Given the description of an element on the screen output the (x, y) to click on. 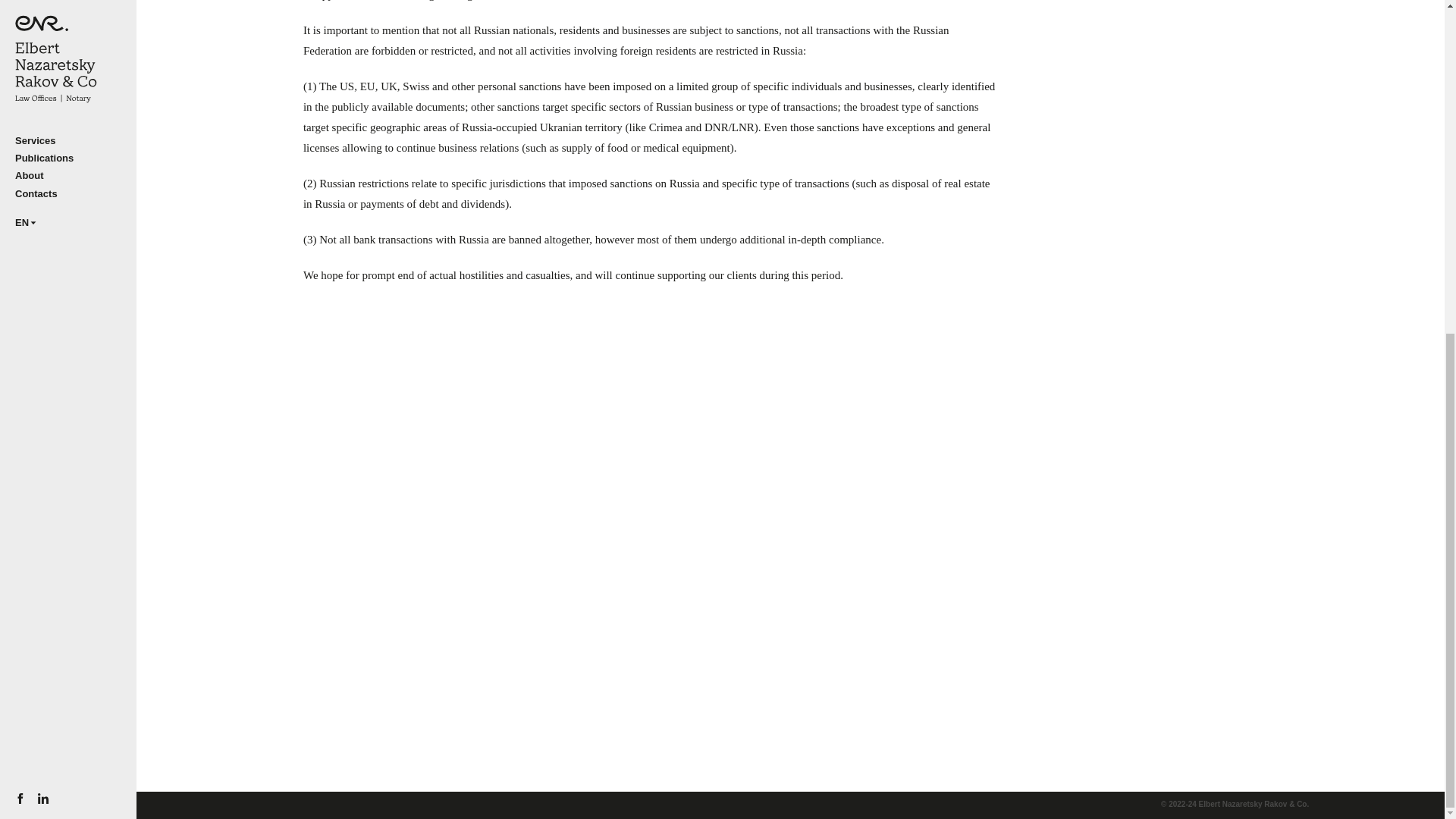
LinkedIn (68, 131)
LinkedIn (42, 242)
Facebook (68, 131)
Facebook (42, 242)
